Given the description of an element on the screen output the (x, y) to click on. 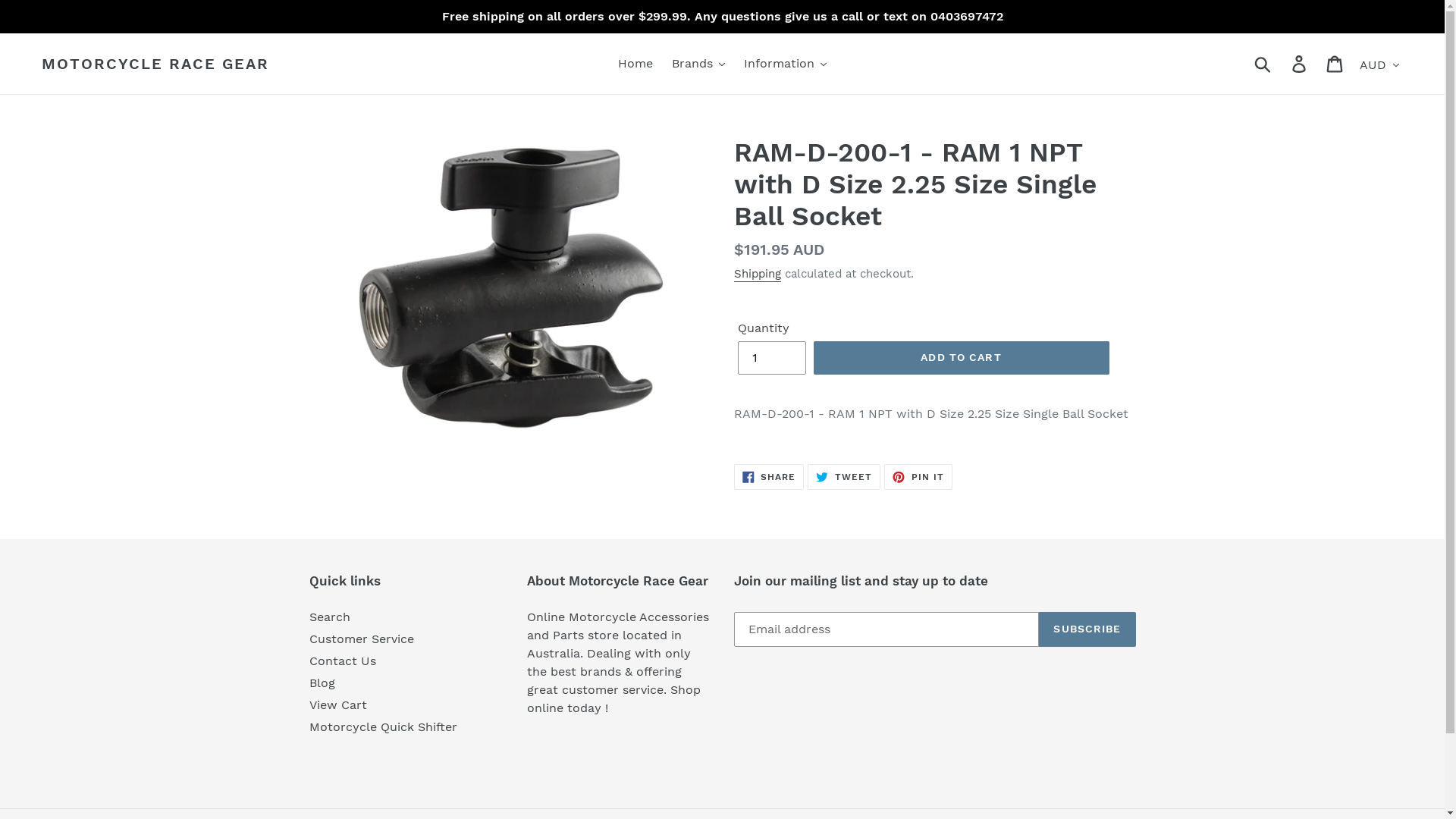
TWEET
TWEET ON TWITTER Element type: text (843, 476)
Contact Us Element type: text (342, 660)
ADD TO CART Element type: text (960, 357)
Cart Element type: text (1335, 64)
Search Element type: text (329, 616)
View Cart Element type: text (338, 704)
Submit Element type: text (1263, 63)
Blog Element type: text (322, 682)
SHARE
SHARE ON FACEBOOK Element type: text (769, 476)
Log in Element type: text (1299, 64)
PIN IT
PIN ON PINTEREST Element type: text (918, 476)
MOTORCYCLE RACE GEAR Element type: text (155, 63)
Shipping Element type: text (757, 274)
Home Element type: text (635, 63)
Motorcycle Quick Shifter Element type: text (383, 726)
Customer Service Element type: text (361, 638)
SUBSCRIBE Element type: text (1086, 628)
